Given the description of an element on the screen output the (x, y) to click on. 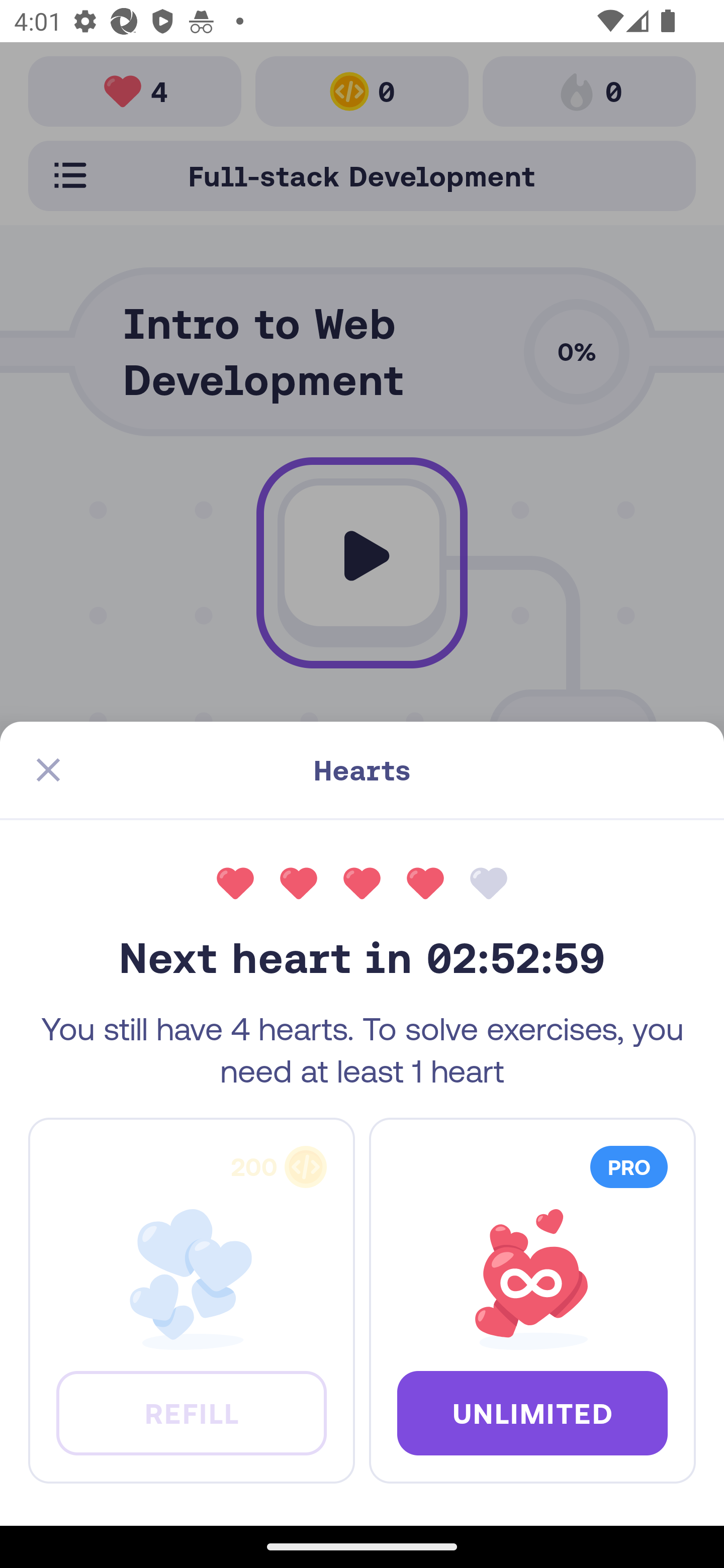
Close (47, 769)
REFILL (191, 1412)
UNLIMITED (532, 1412)
